Given the description of an element on the screen output the (x, y) to click on. 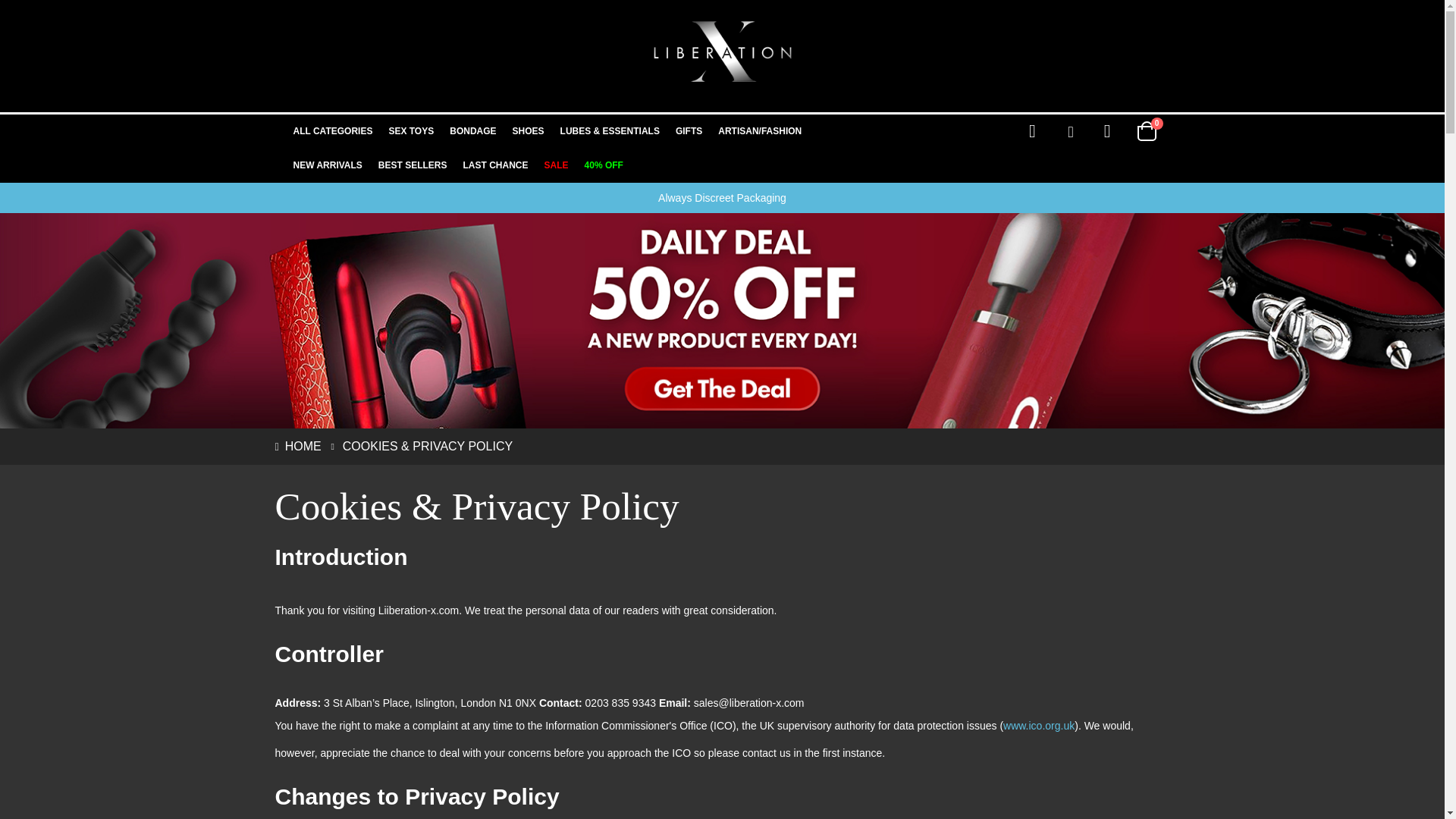
Wishlist (1107, 131)
Go to Home Page (297, 446)
ALL CATEGORIES (332, 131)
